Given the description of an element on the screen output the (x, y) to click on. 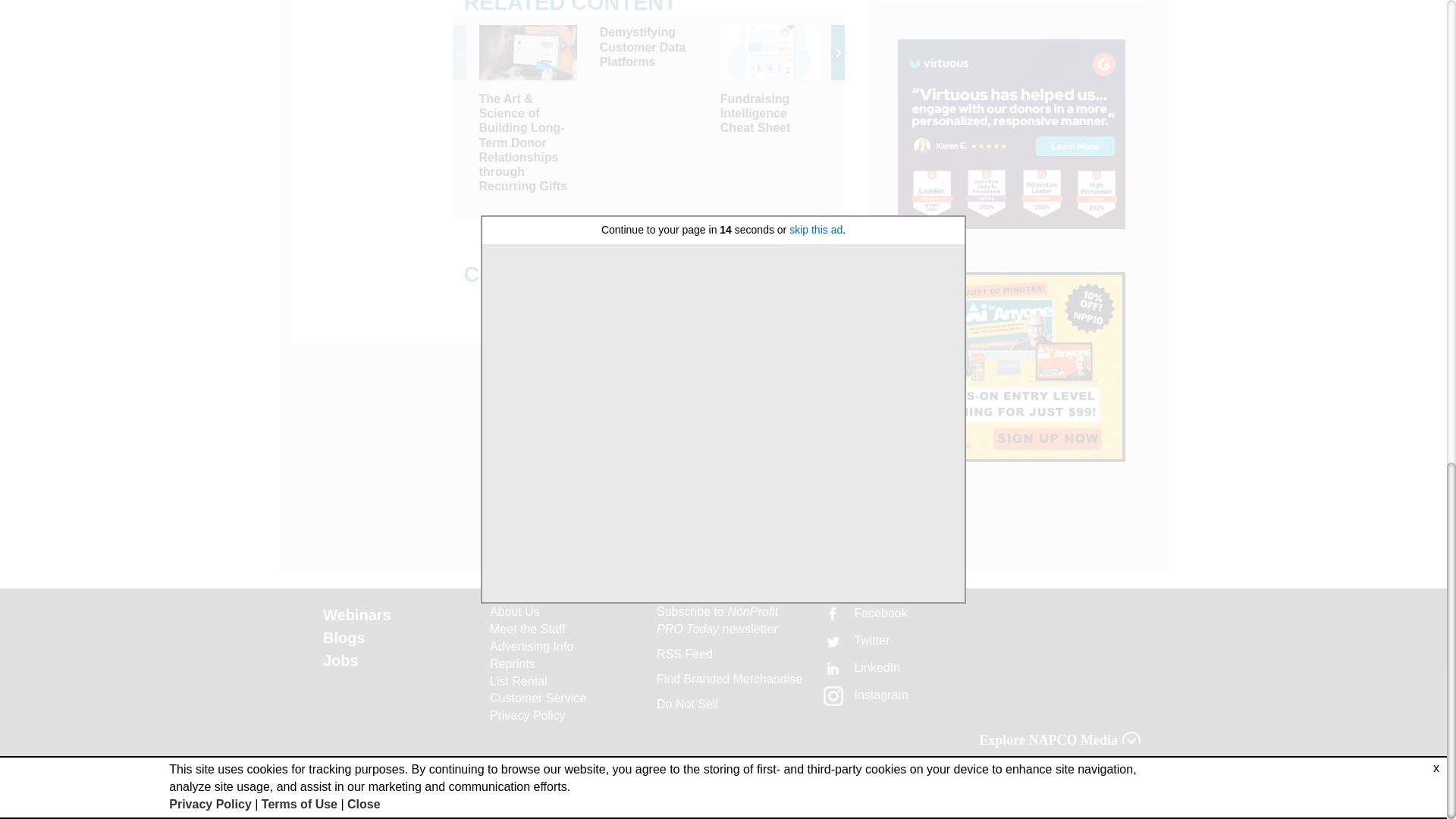
3rd party ad content (1011, 366)
3rd party ad content (1011, 134)
